Given the description of an element on the screen output the (x, y) to click on. 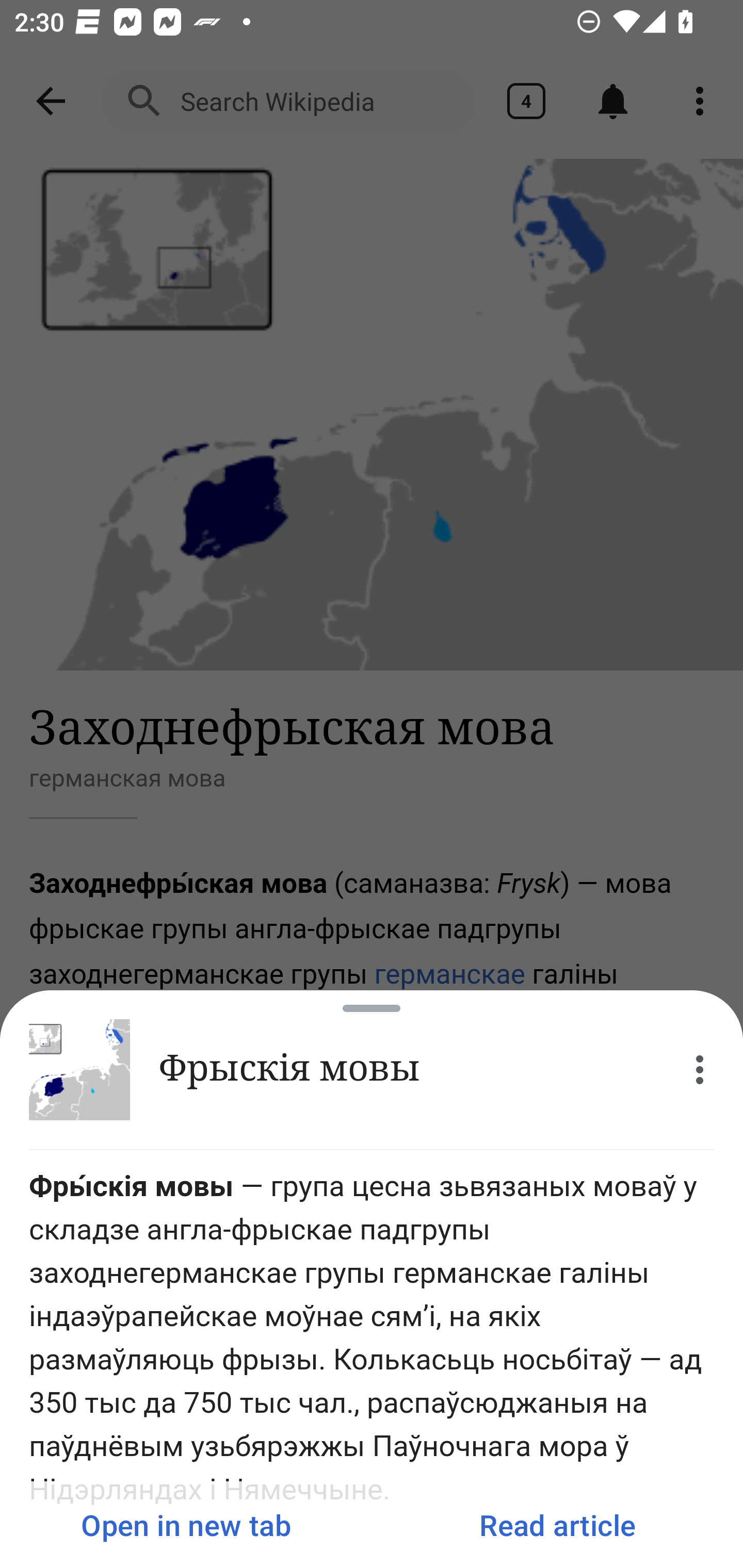
Фрыскія мовы More options (371, 1069)
More options (699, 1070)
Open in new tab (185, 1524)
Read article (557, 1524)
